Given the description of an element on the screen output the (x, y) to click on. 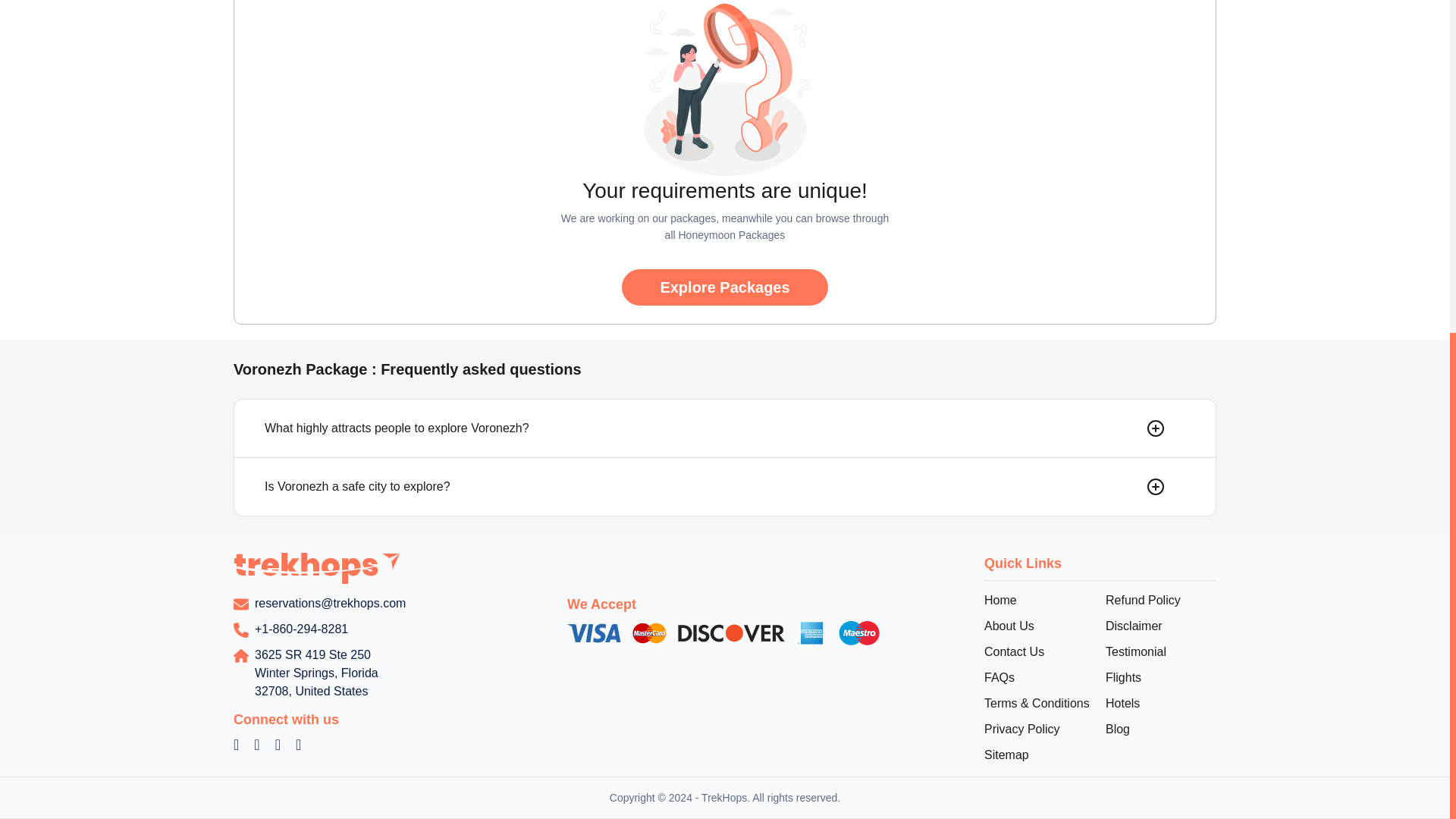
What highly attracts people to explore Voronezh? (726, 428)
Is Voronezh a safe city to explore? (726, 486)
Explore Packages (724, 287)
